Given the description of an element on the screen output the (x, y) to click on. 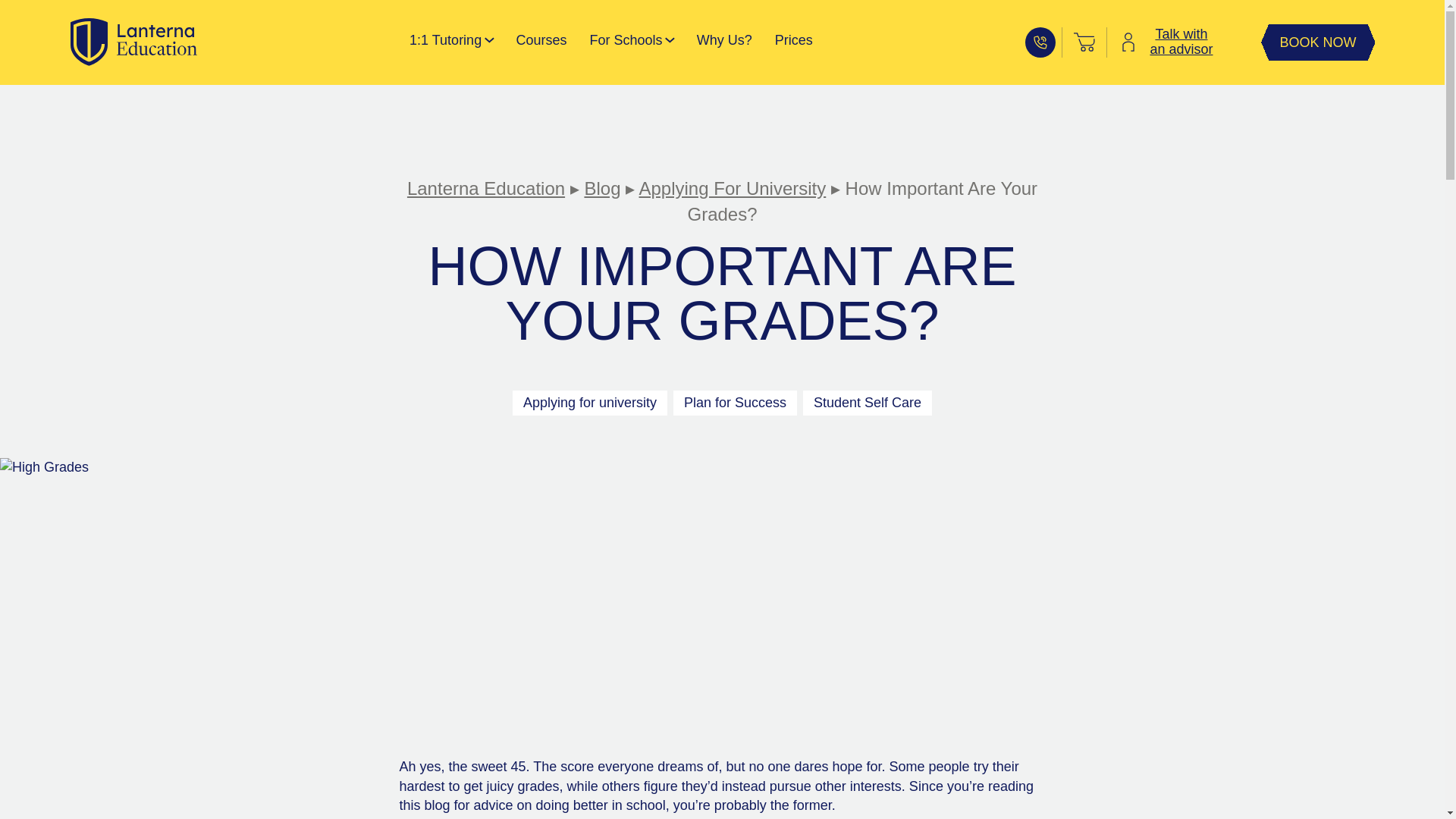
For Schools (625, 42)
Go to the Applying for university category archives. (732, 188)
Login (1127, 42)
BOOK NOW (1317, 42)
Blog (601, 188)
Applying For University (732, 188)
1:1 Tutoring (445, 42)
Plan for Success (734, 402)
Lanterna Education (485, 188)
Why Us? (724, 42)
Courses (540, 42)
Applying for university (589, 402)
Go to Blog. (601, 188)
Student Self Care (1181, 42)
